Given the description of an element on the screen output the (x, y) to click on. 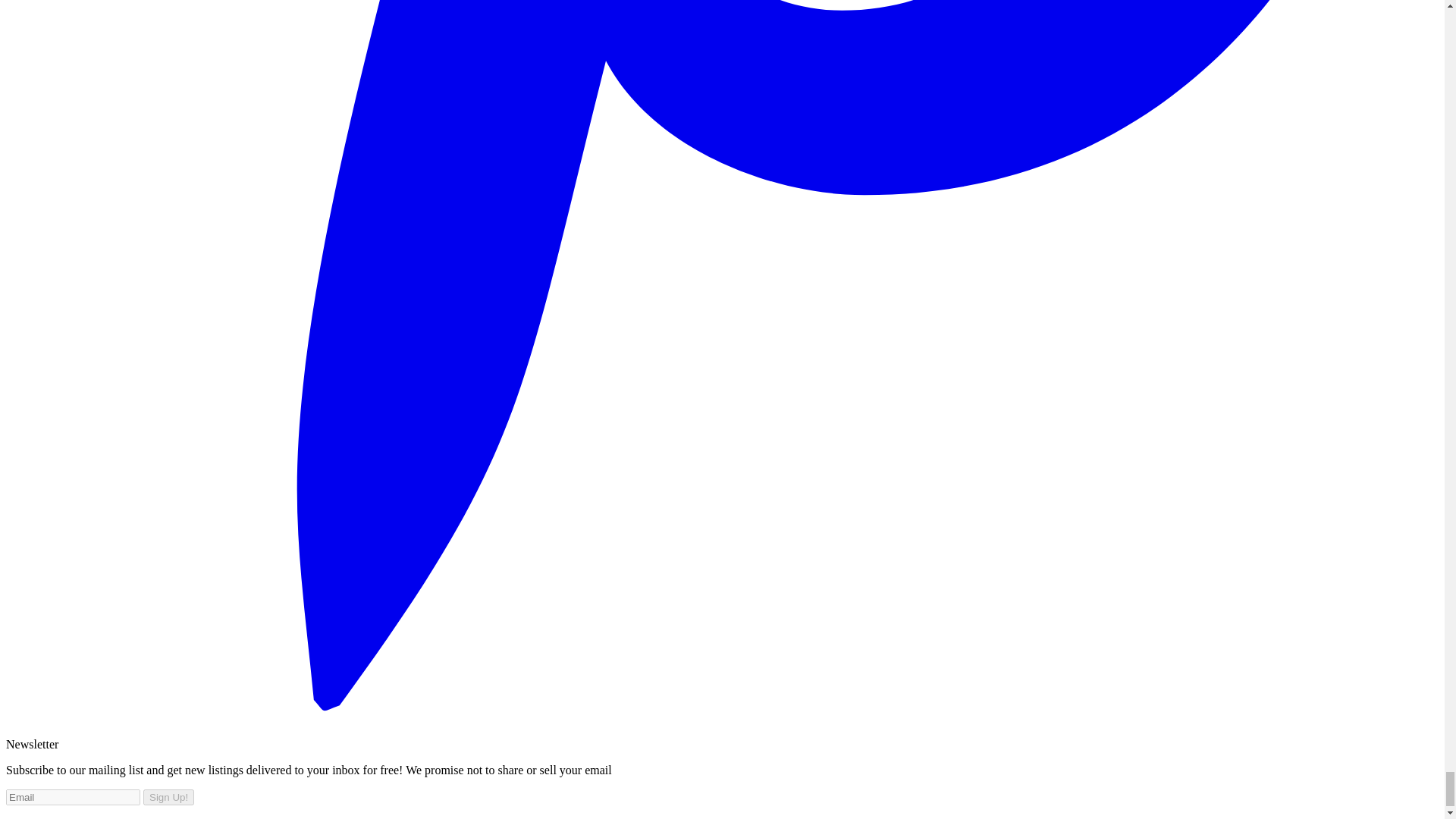
Sign Up! (167, 797)
